Given the description of an element on the screen output the (x, y) to click on. 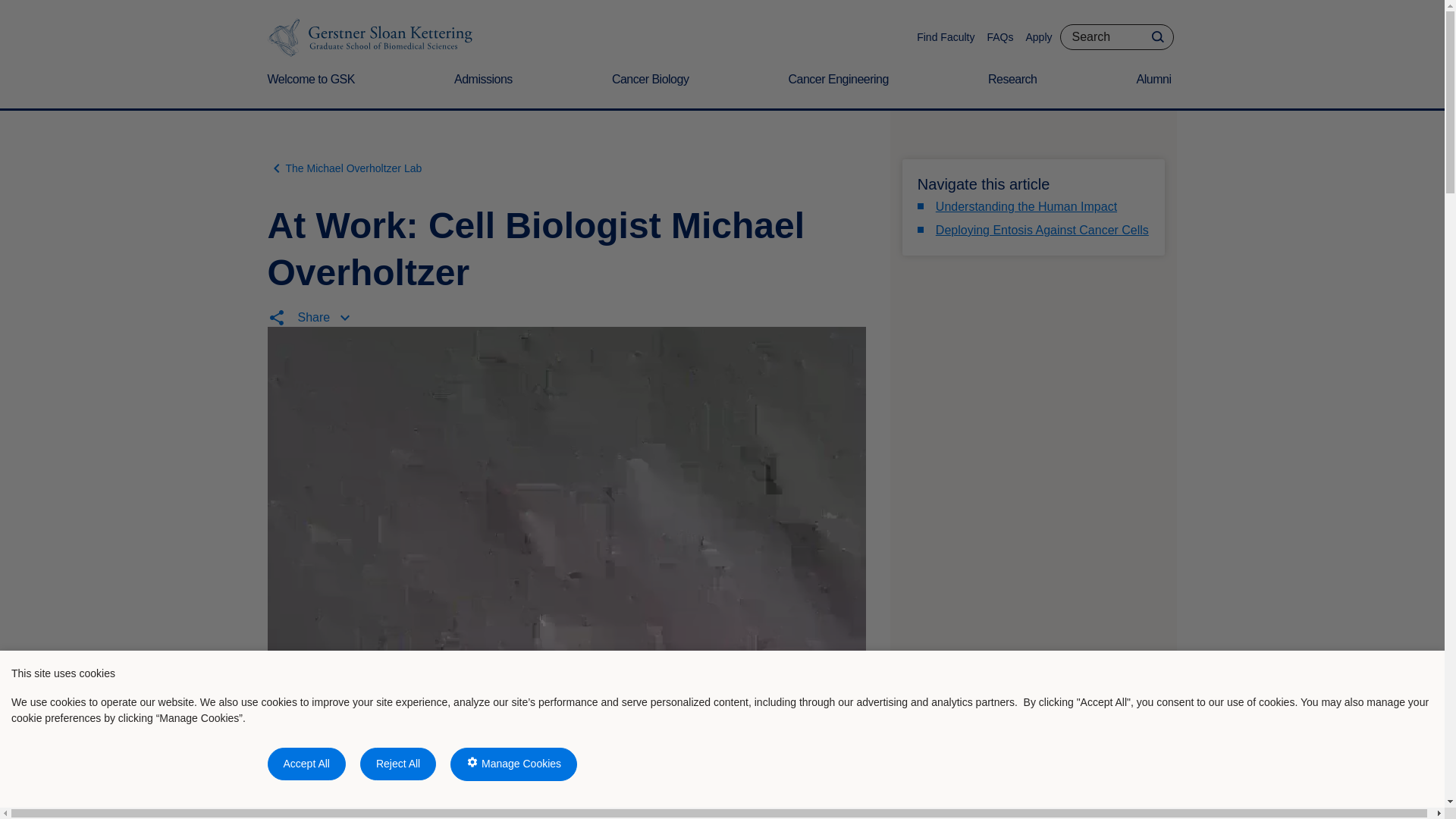
Insert a query. Press enter to send (1115, 37)
Cancer Engineering (840, 88)
Understanding the Human Impact (1026, 205)
The Michael Overholtzer Lab (344, 167)
Alumni (1157, 88)
Cell Biology Program (484, 803)
Reject All (397, 763)
Welcome to GSK (312, 88)
FAQs (1000, 37)
Apply (1038, 37)
